Given the description of an element on the screen output the (x, y) to click on. 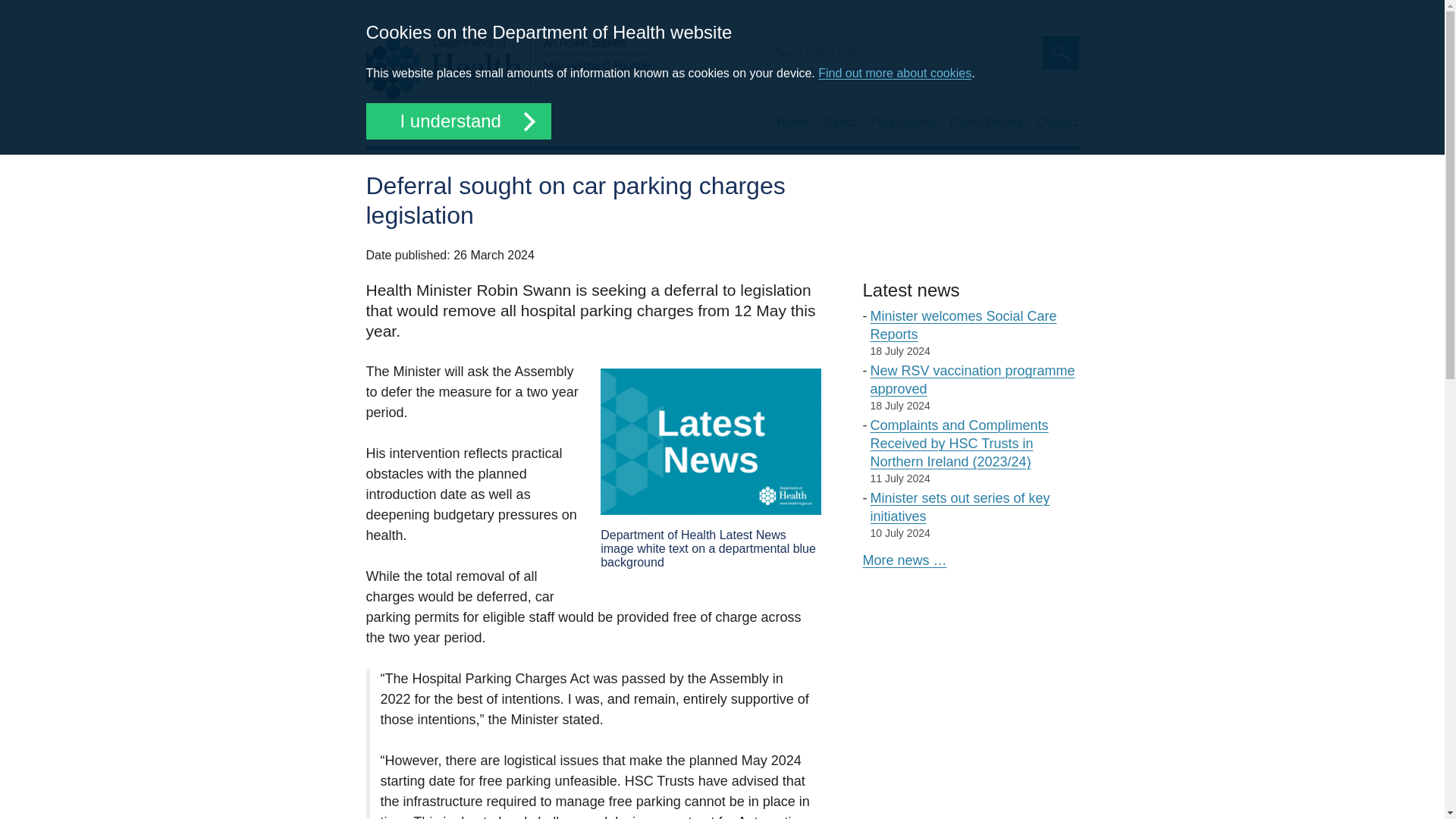
Search (1060, 52)
Contact (1057, 122)
Consultations (986, 122)
Home (792, 122)
New RSV vaccination programme approved (972, 379)
Minister sets out series of key initiatives (959, 507)
I understand (457, 121)
Find out more about cookies (894, 72)
Publications (903, 122)
Minister welcomes Social Care Reports (963, 325)
Search (1060, 52)
Enter the terms you wish to search for (904, 52)
Home (507, 67)
Topics (839, 122)
